Given the description of an element on the screen output the (x, y) to click on. 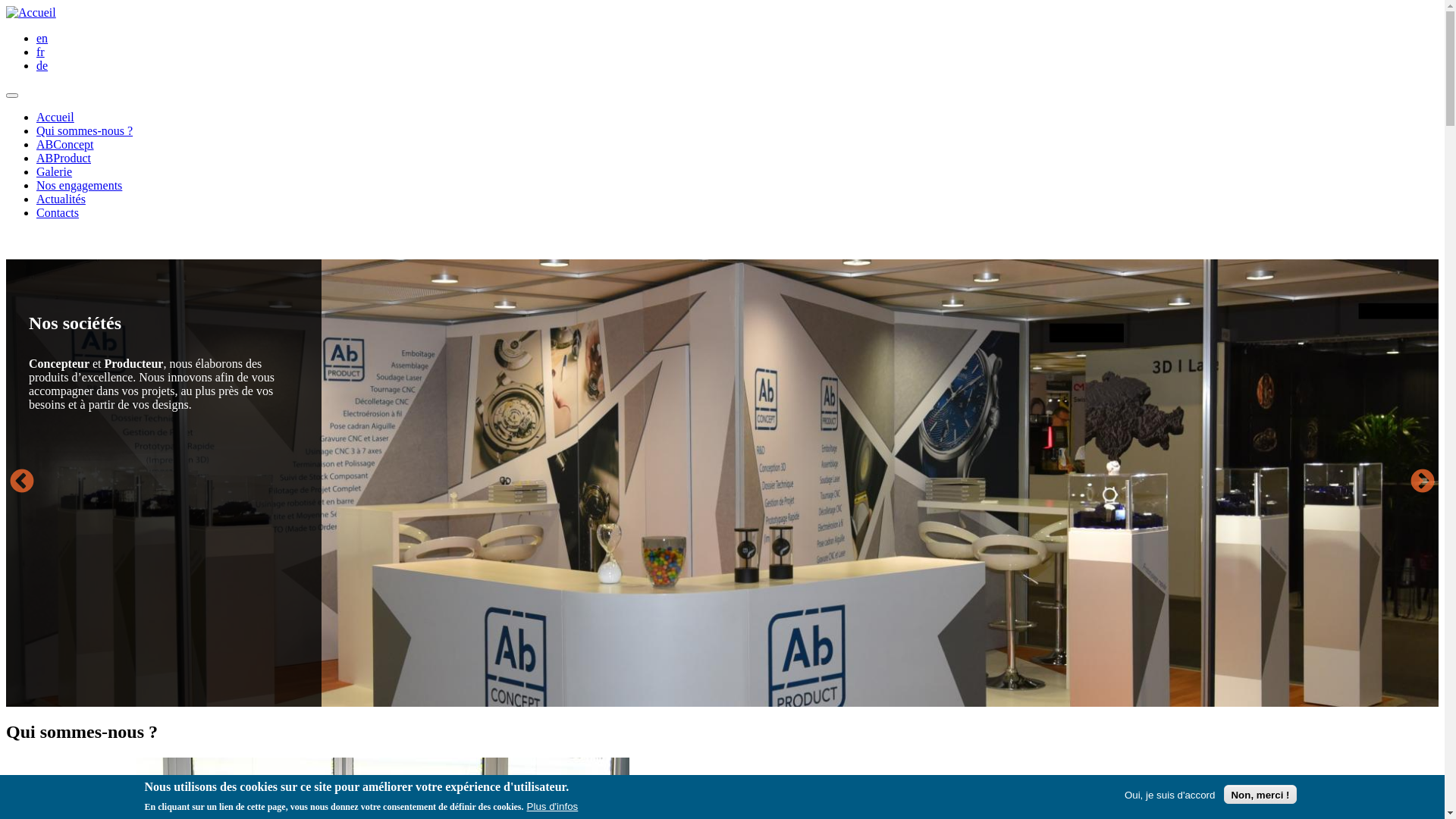
ABConcept Element type: text (65, 144)
Accueil Element type: hover (31, 12)
Next Element type: text (1422, 482)
fr Element type: text (40, 51)
ABProduct Element type: text (63, 157)
Toggle navigation Element type: text (12, 95)
en Element type: text (41, 37)
Accueil Element type: text (55, 116)
Contacts Element type: text (57, 212)
Non, merci ! Element type: text (1259, 793)
Galerie Element type: text (54, 171)
de Element type: text (41, 65)
Nos engagements Element type: text (79, 184)
Aller au contenu principal Element type: text (6, 6)
Previous Element type: text (21, 482)
Oui, je suis d'accord Element type: text (1169, 794)
Qui sommes-nous ? Element type: text (84, 130)
Plus d'infos Element type: text (552, 806)
